Given the description of an element on the screen output the (x, y) to click on. 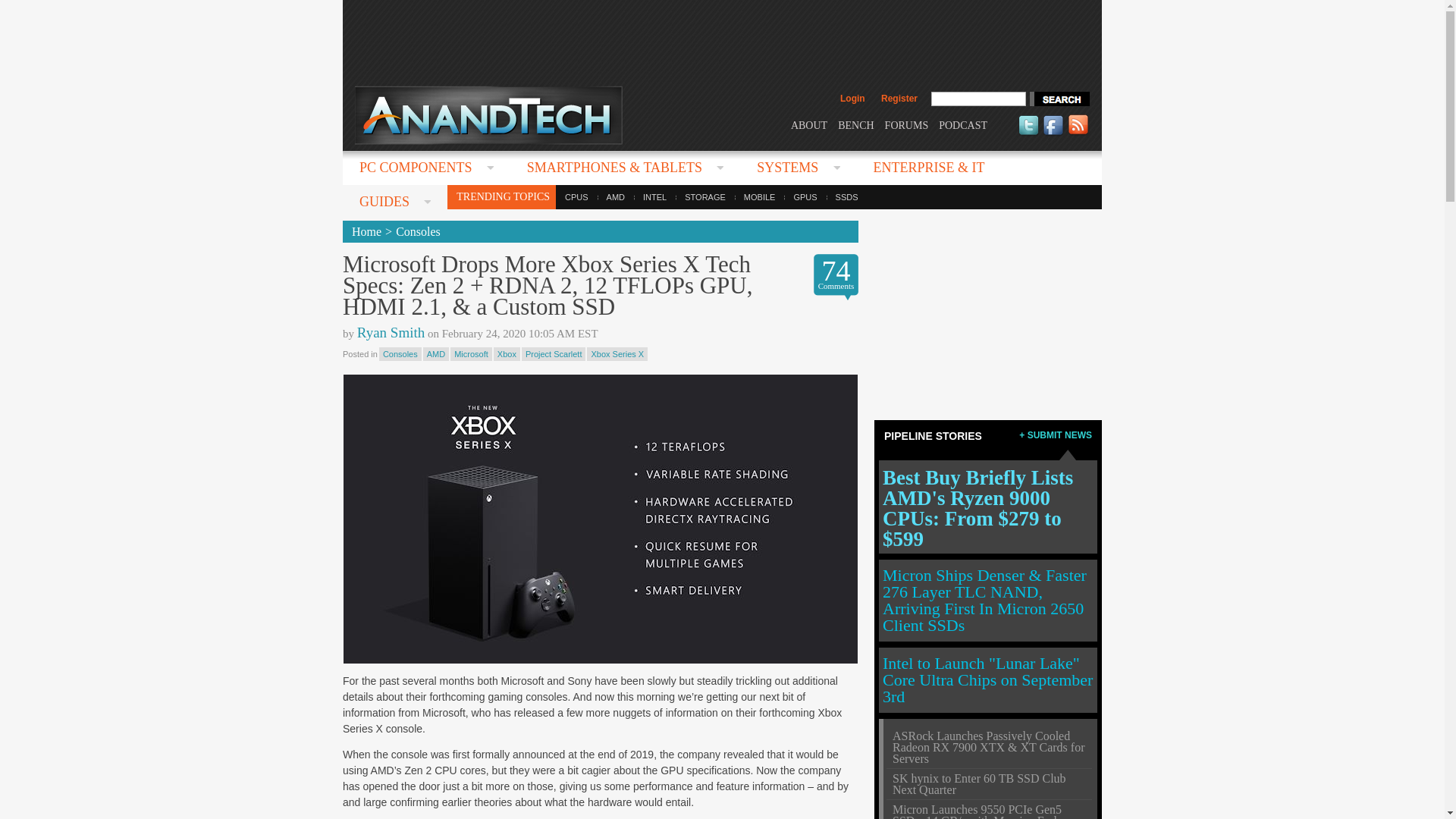
search (1059, 98)
search (1059, 98)
search (1059, 98)
Register (898, 98)
Login (852, 98)
PODCAST (963, 125)
BENCH (855, 125)
FORUMS (906, 125)
ABOUT (808, 125)
